Given the description of an element on the screen output the (x, y) to click on. 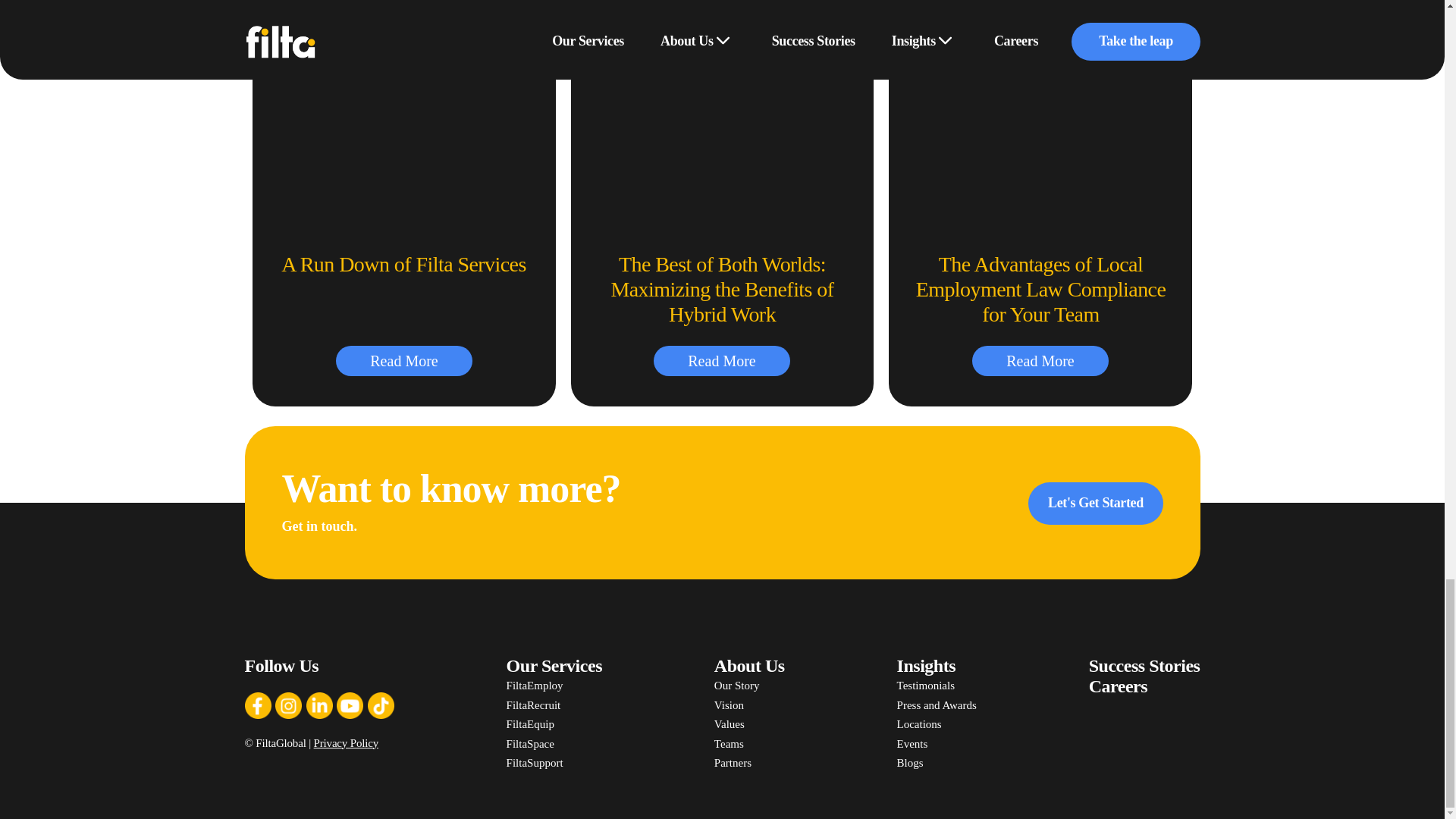
FiltaEmploy (554, 686)
Privacy Policy (346, 743)
Read More (1040, 360)
FiltaSpace (554, 744)
FiltaEquip (554, 724)
Let's Get Started (1095, 503)
FiltaSupport (554, 763)
Read More (721, 360)
FiltaRecruit (554, 705)
Read More (402, 360)
